Given the description of an element on the screen output the (x, y) to click on. 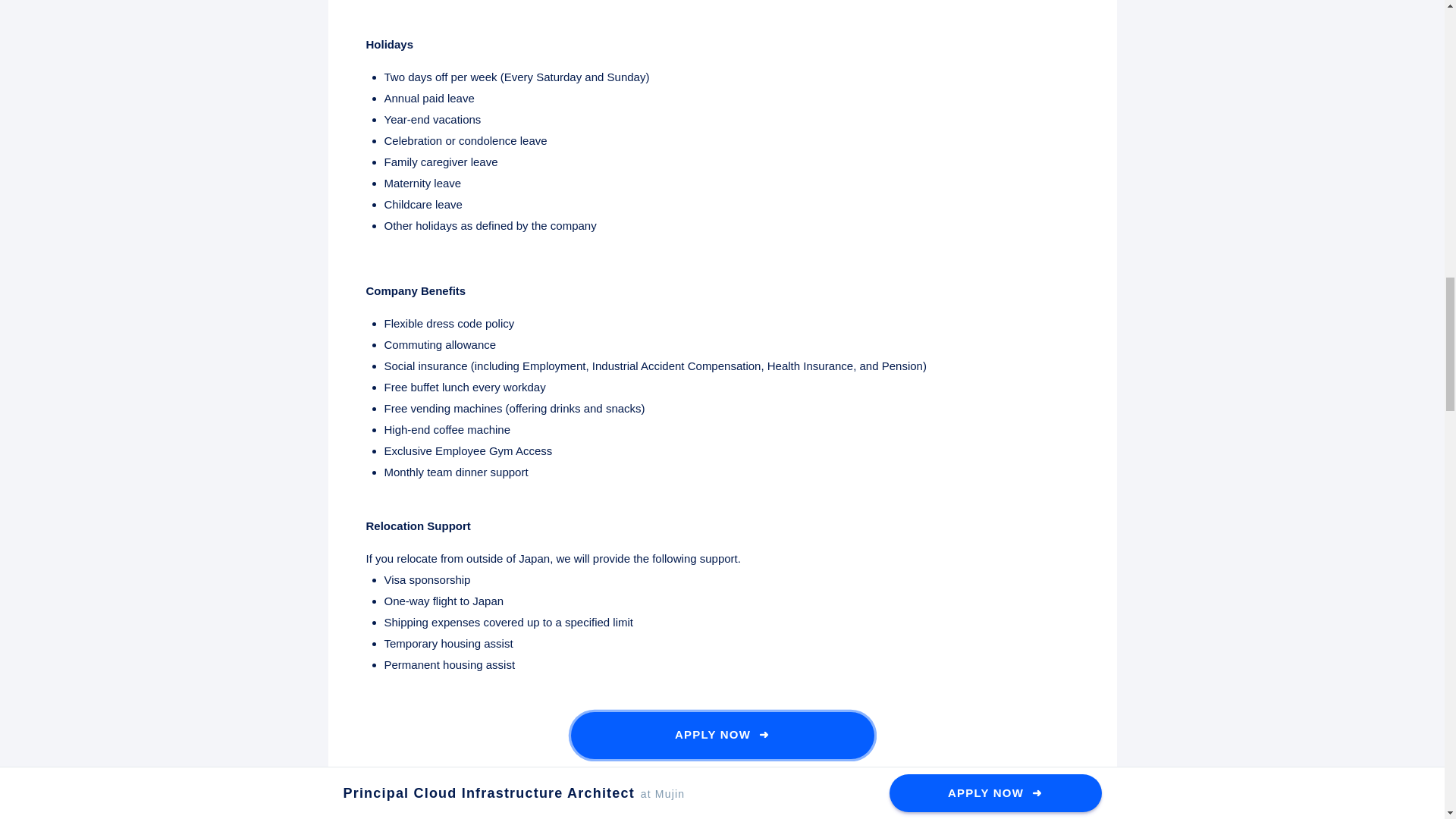
Manager (799, 813)
Engineering (390, 813)
GraphQL (740, 813)
Python (488, 813)
AWS (576, 813)
PostgreSQL (633, 813)
Go (444, 813)
GCP (689, 813)
